Given the description of an element on the screen output the (x, y) to click on. 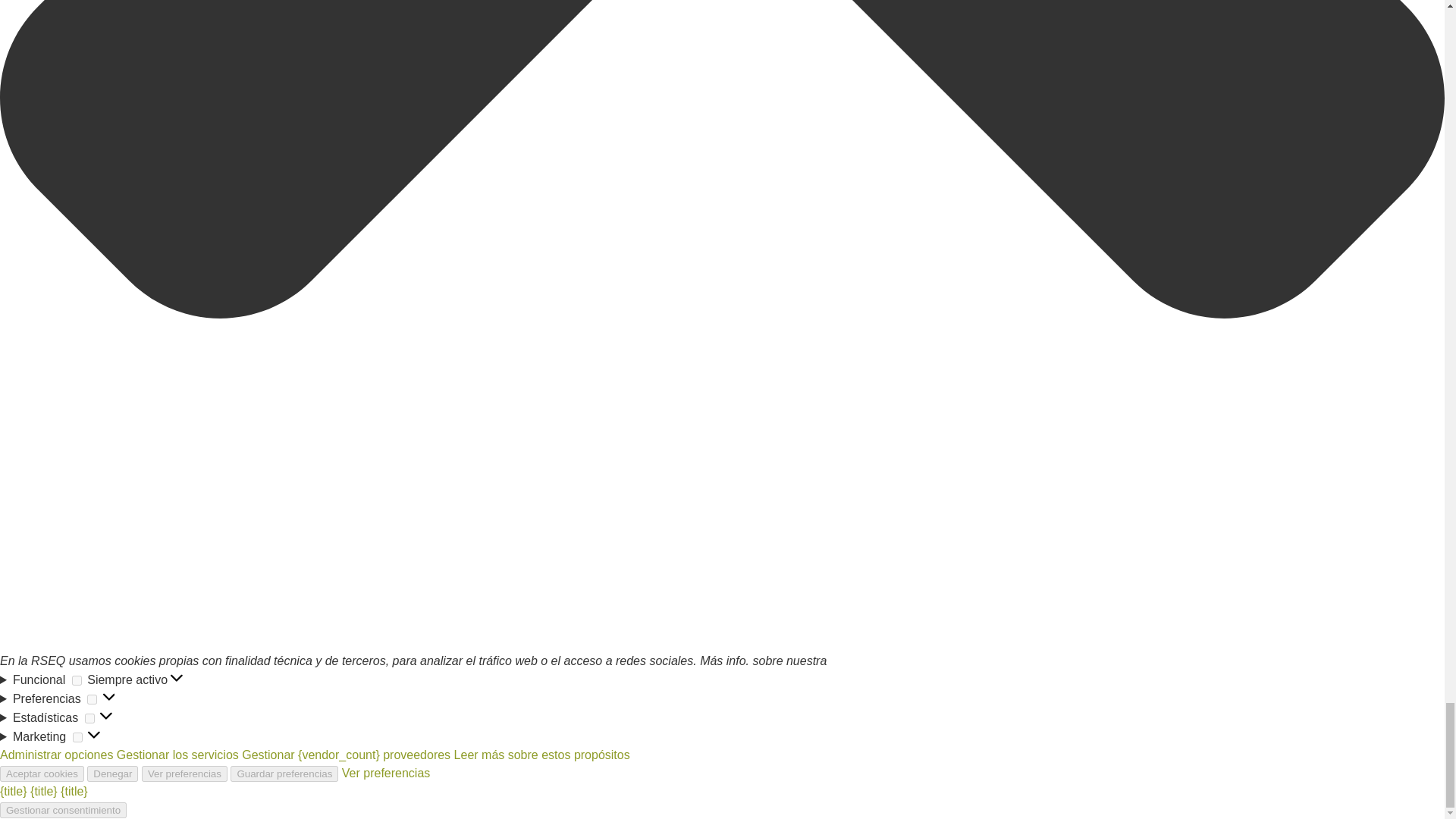
1 (89, 718)
1 (77, 737)
1 (76, 680)
1 (92, 699)
